Given the description of an element on the screen output the (x, y) to click on. 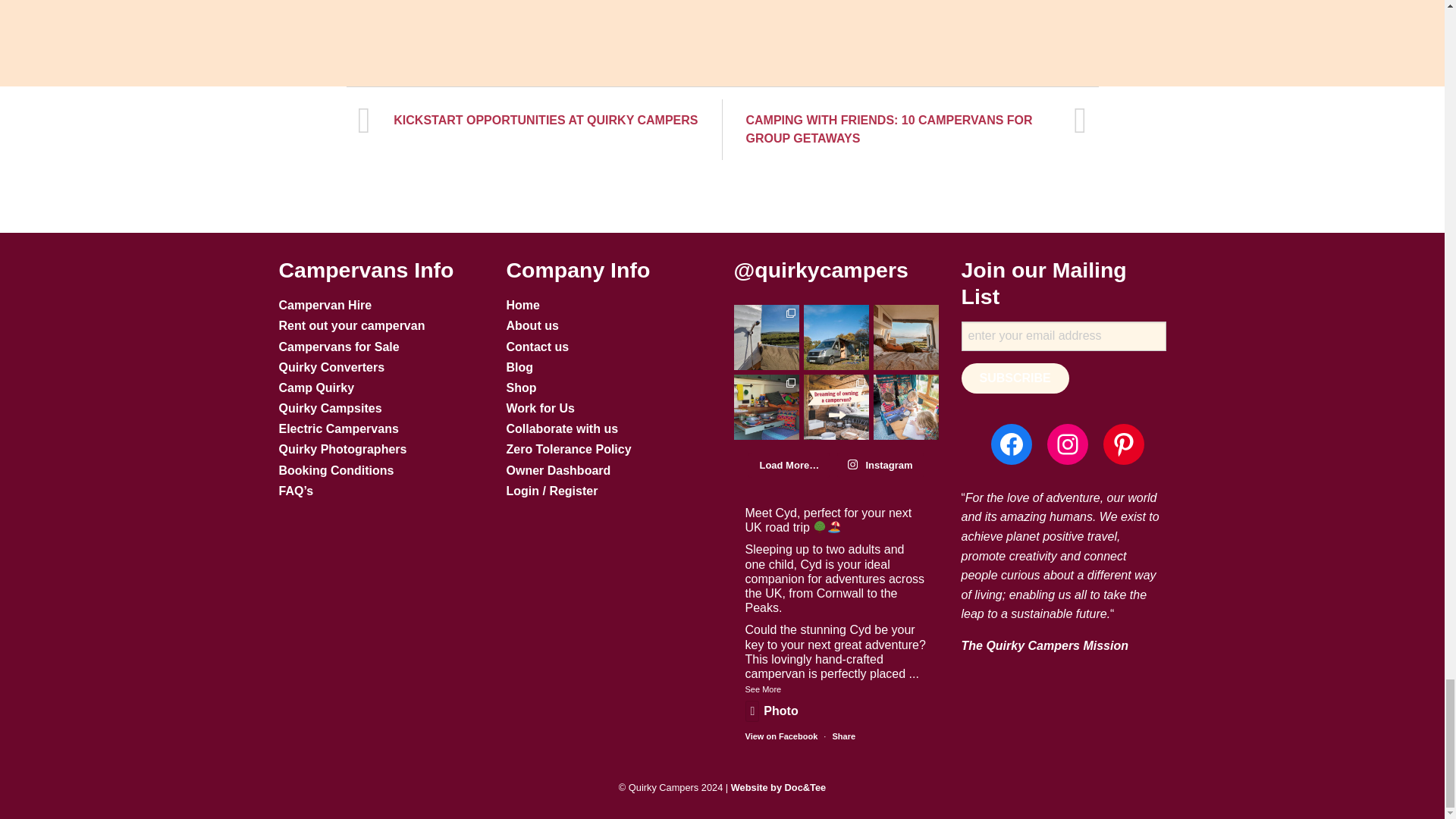
Subscribe (1014, 378)
Share (843, 736)
View on Facebook (780, 736)
